Given the description of an element on the screen output the (x, y) to click on. 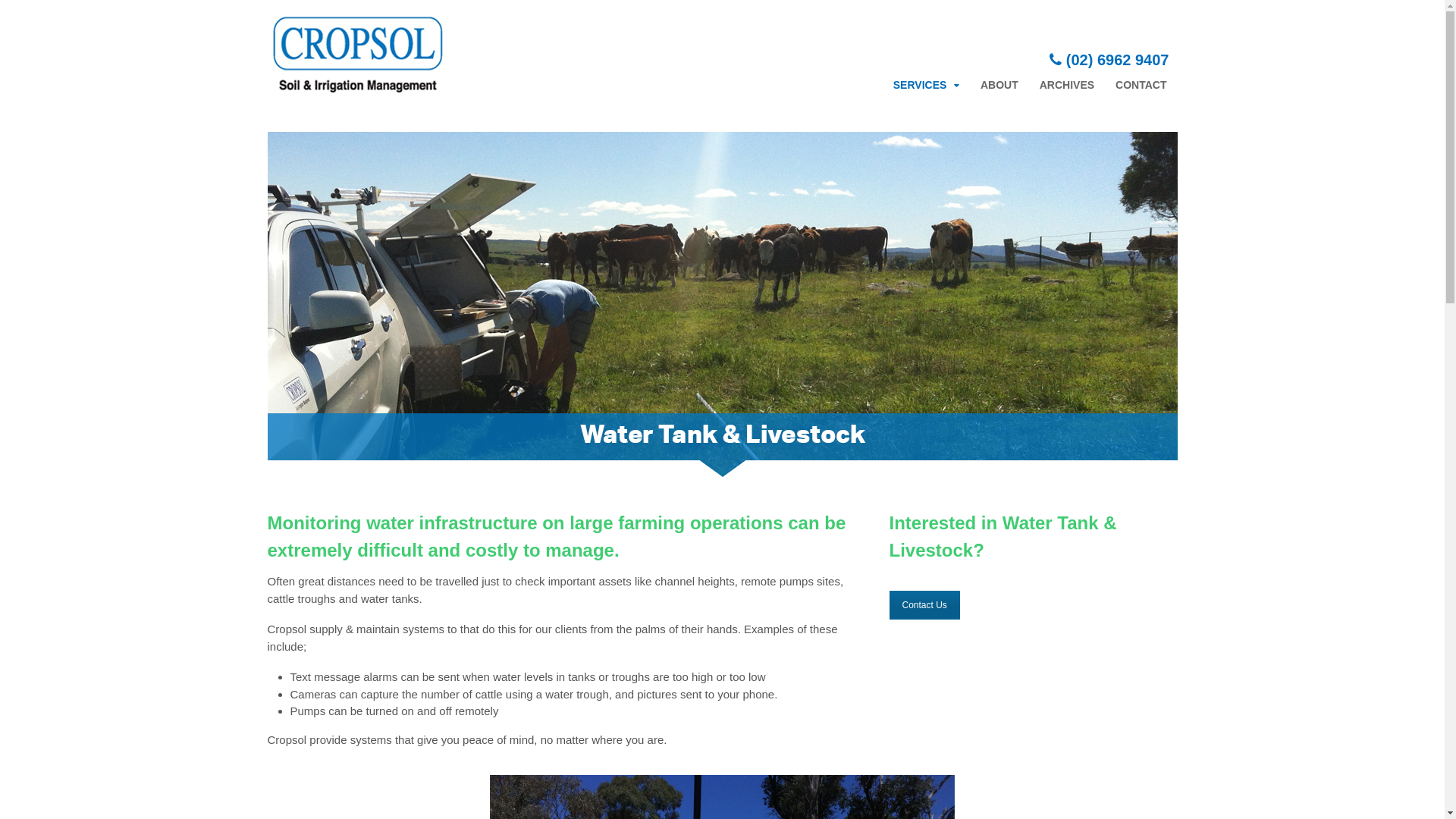
ABOUT Element type: text (999, 85)
ARCHIVES Element type: text (1066, 85)
SERVICES Element type: text (925, 85)
Contact Us Element type: text (923, 604)
(02) 6962 9407 Element type: text (1108, 59)
Cropsol-Internal-Banners-WaterTank Element type: hover (721, 307)
CONTACT Element type: text (1140, 85)
